Given the description of an element on the screen output the (x, y) to click on. 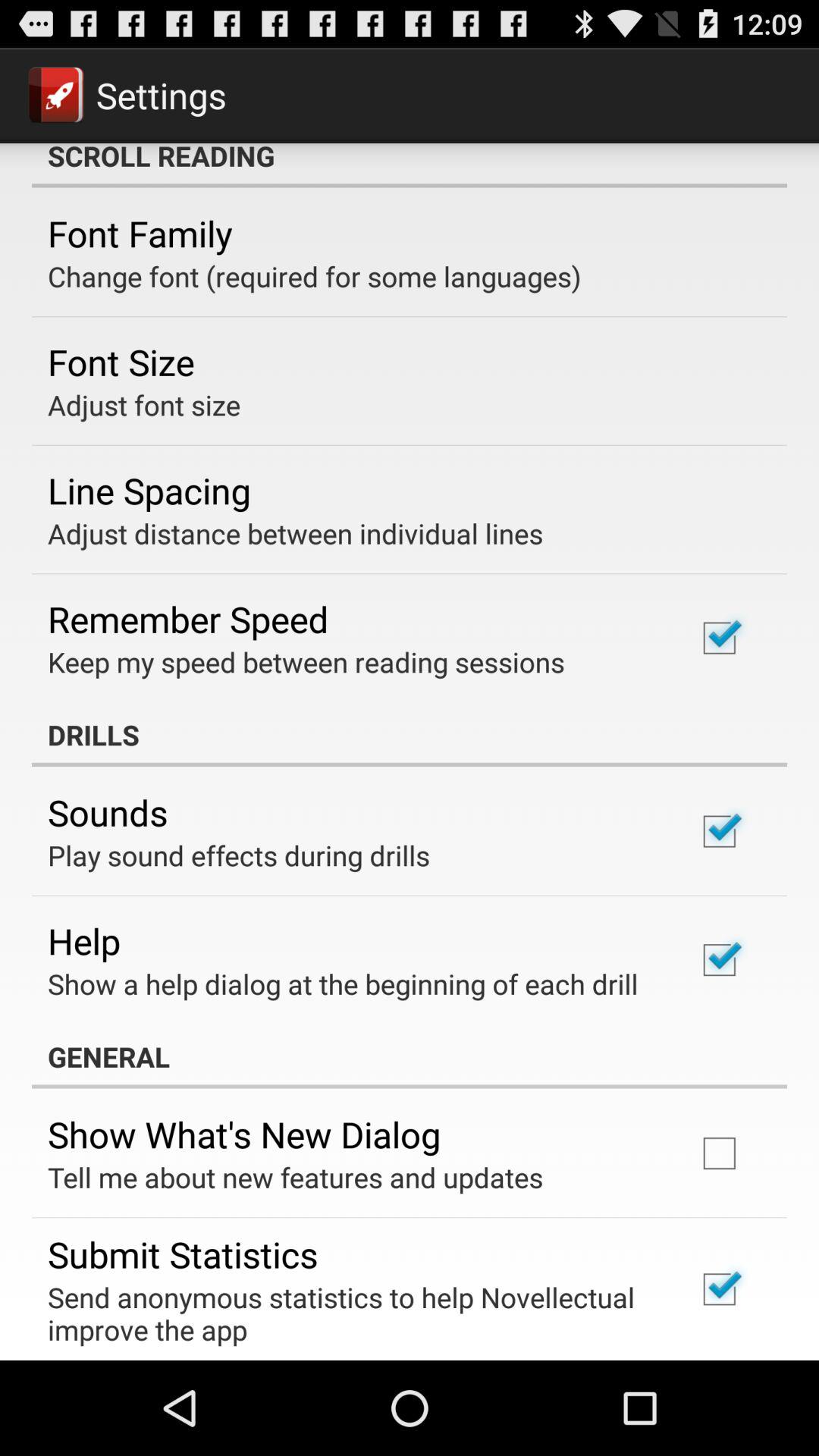
open the app above font size app (314, 276)
